Given the description of an element on the screen output the (x, y) to click on. 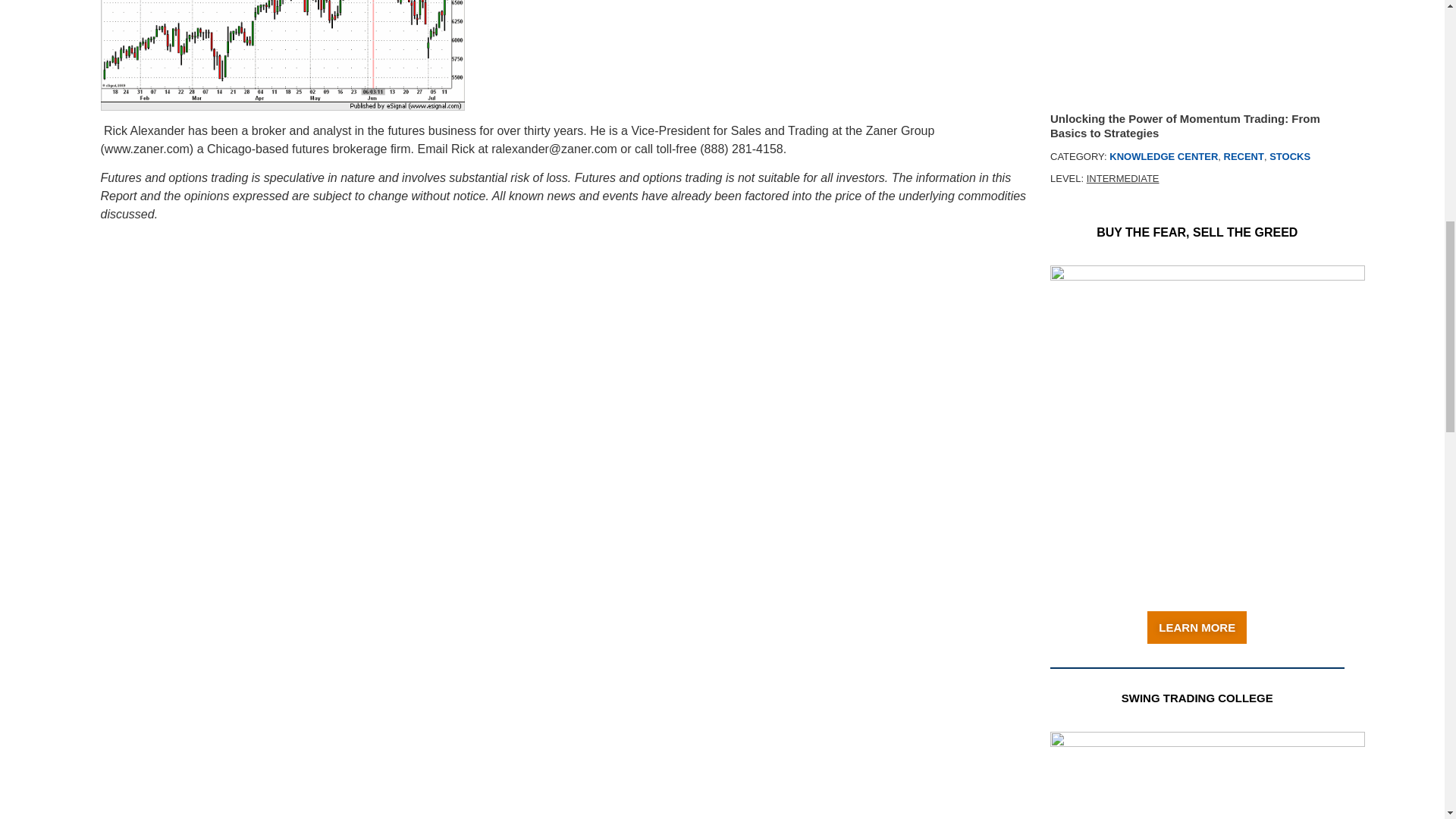
RECENT (1243, 156)
KNOWLEDGE CENTER (1163, 156)
